Given the description of an element on the screen output the (x, y) to click on. 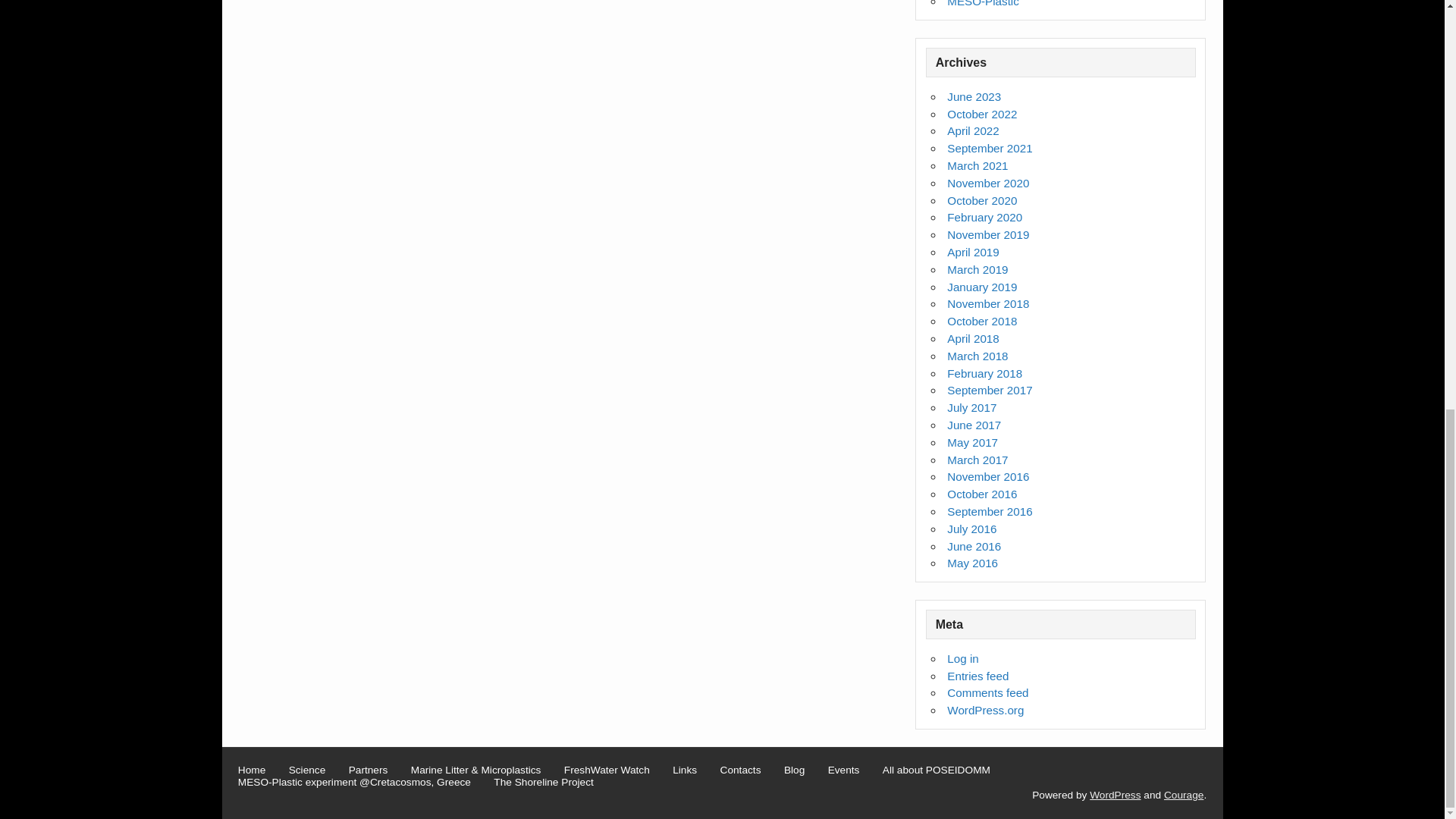
Courage WordPress Theme (1183, 794)
MESO-Plastic (983, 3)
October 2022 (981, 113)
June 2023 (974, 96)
WordPress (1114, 794)
